Given the description of an element on the screen output the (x, y) to click on. 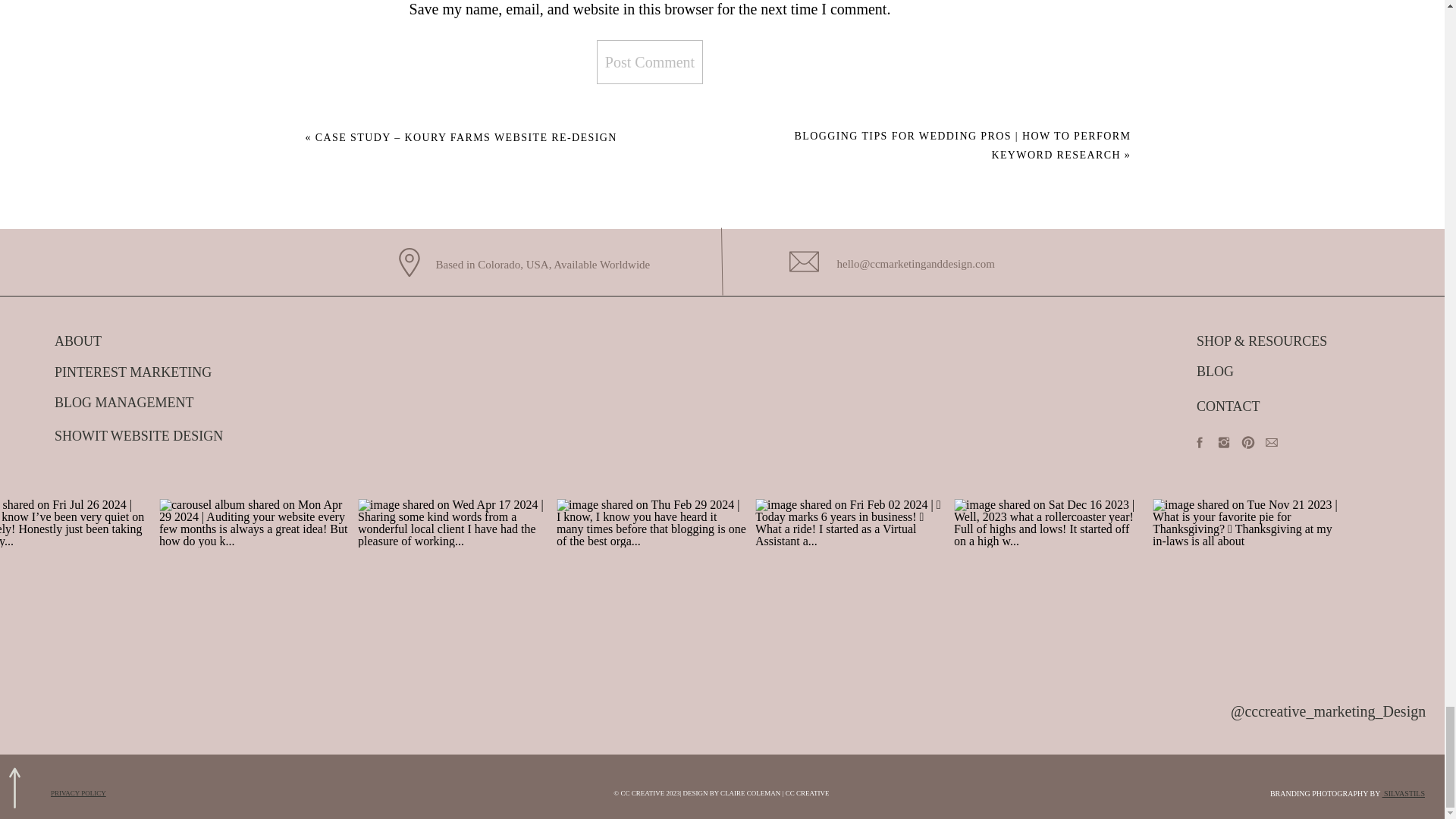
Post Comment (649, 62)
